Given the description of an element on the screen output the (x, y) to click on. 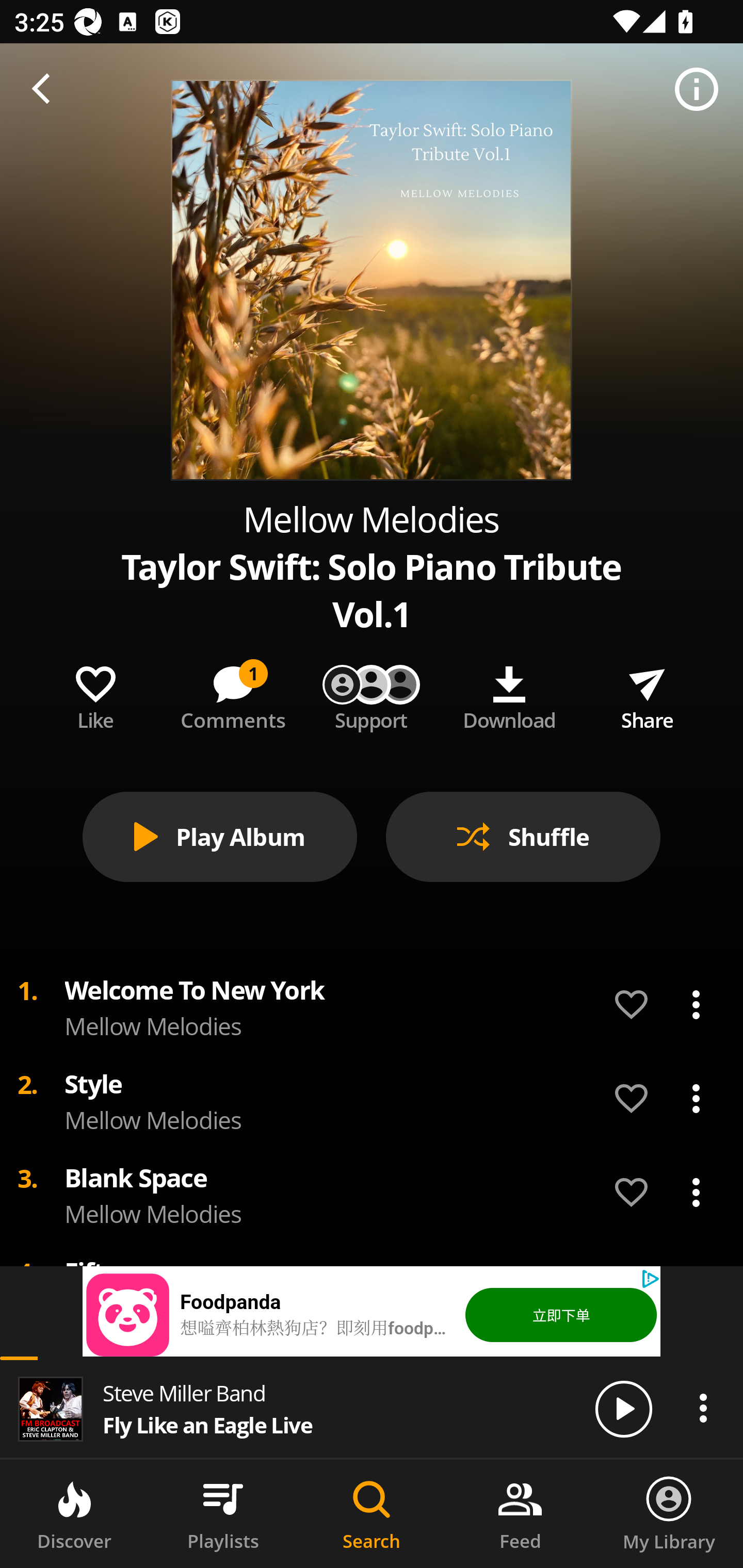
Close (46, 89)
Music info (696, 89)
Like (95, 694)
Comment Comment 1 Comments (233, 694)
Support (371, 694)
Download (509, 694)
Share (647, 694)
Play Album (219, 836)
Shuffle (522, 836)
1. Welcome To New York Mellow Melodies Actions (371, 1005)
Actions (695, 1005)
2. Style Mellow Melodies Actions (371, 1099)
Actions (695, 1098)
3. Blank Space Mellow Melodies Actions (371, 1192)
Actions (695, 1192)
Foodpanda 想嗌齊柏林熱狗店？即刻用foodpanda，首張訂單滿$160即慳$40 (318, 1314)
立即下单 (560, 1314)
Actions (703, 1407)
Play/Pause (623, 1408)
Discover (74, 1513)
Playlists (222, 1513)
Search (371, 1513)
Feed (519, 1513)
My Library (668, 1513)
